Given the description of an element on the screen output the (x, y) to click on. 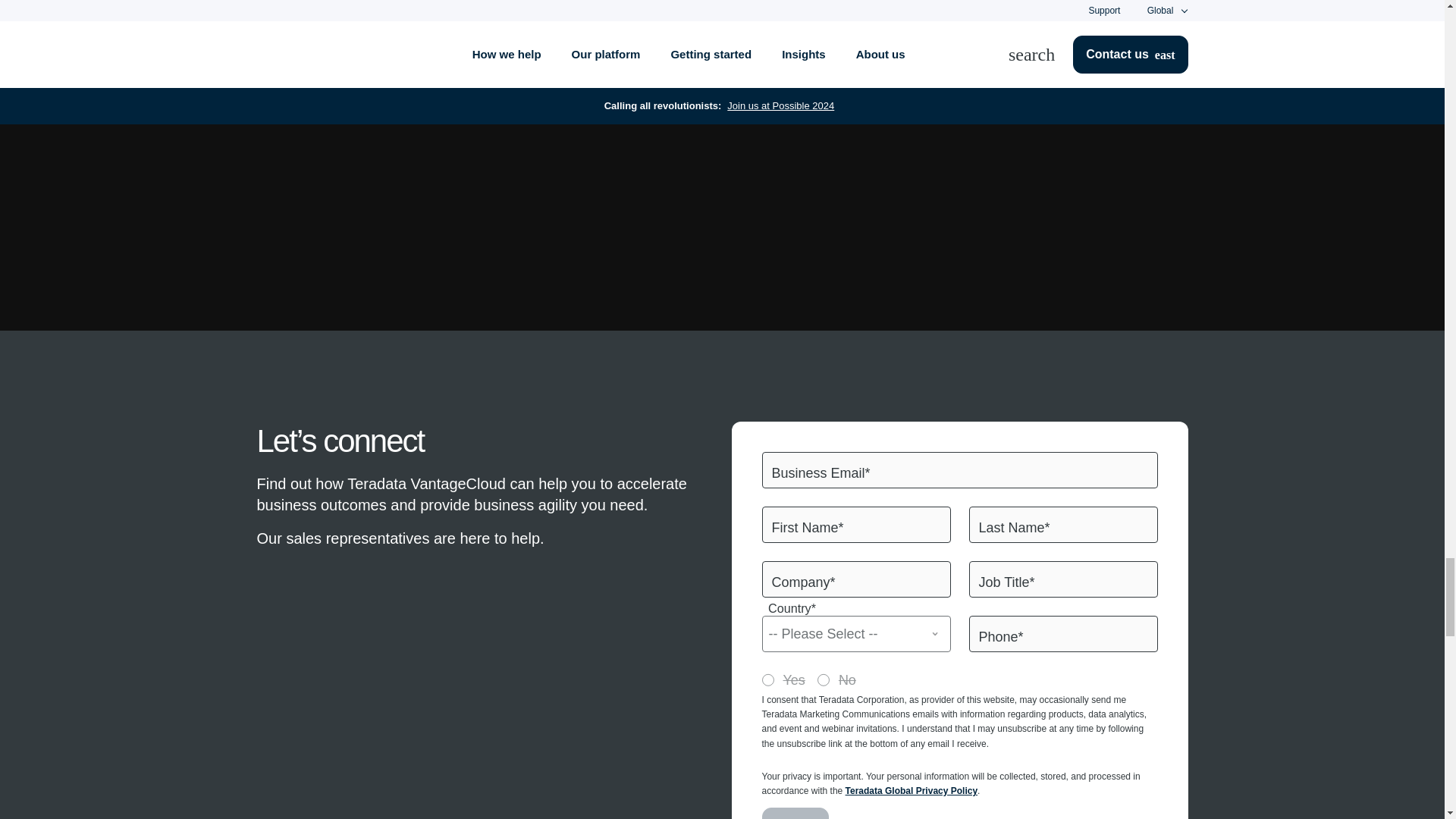
Yes (767, 680)
No (822, 680)
Submit (794, 813)
